Given the description of an element on the screen output the (x, y) to click on. 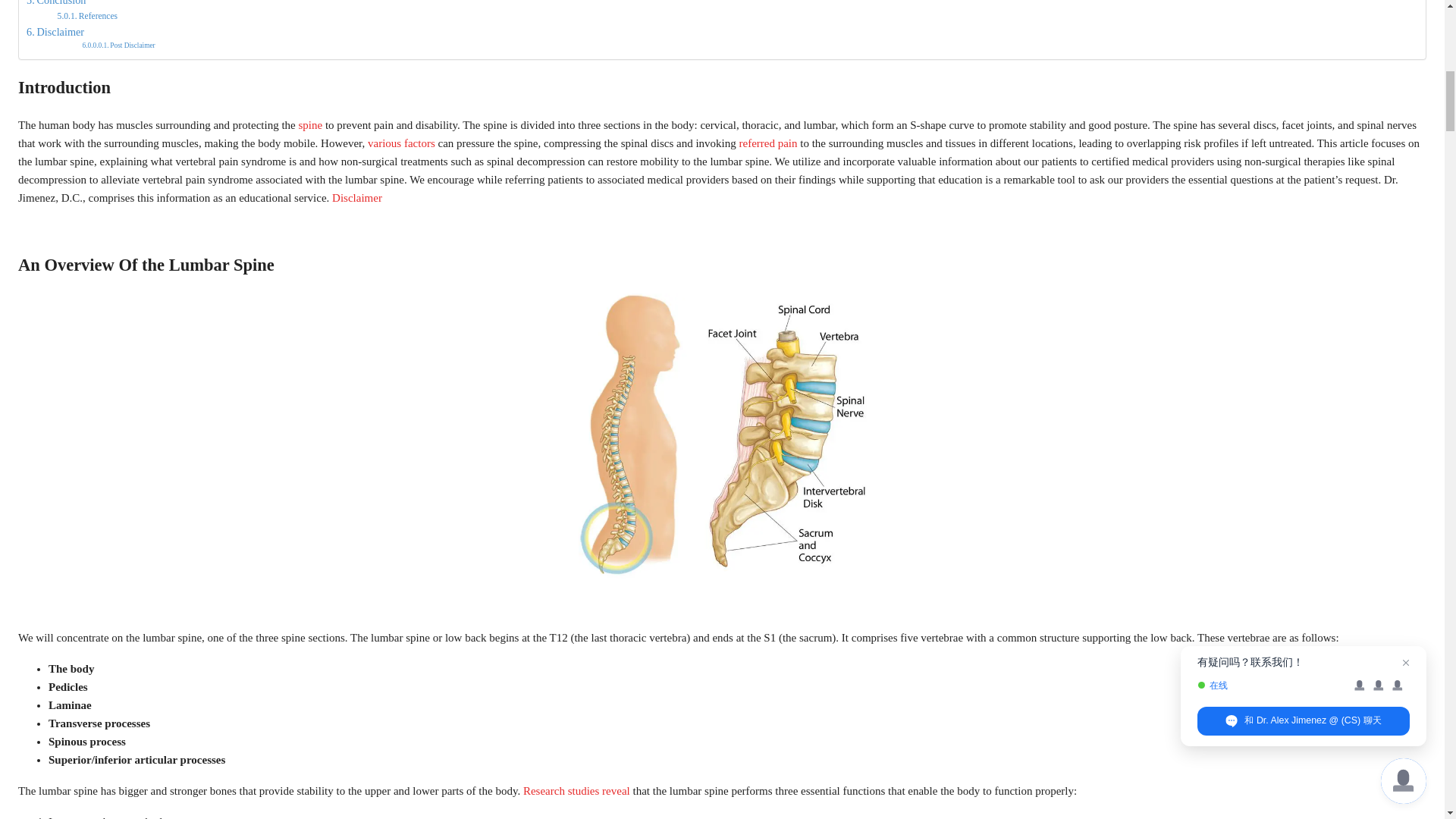
Conclusion (55, 4)
Post Disclaimer (117, 45)
Disclaimer (55, 31)
References (87, 15)
